Given the description of an element on the screen output the (x, y) to click on. 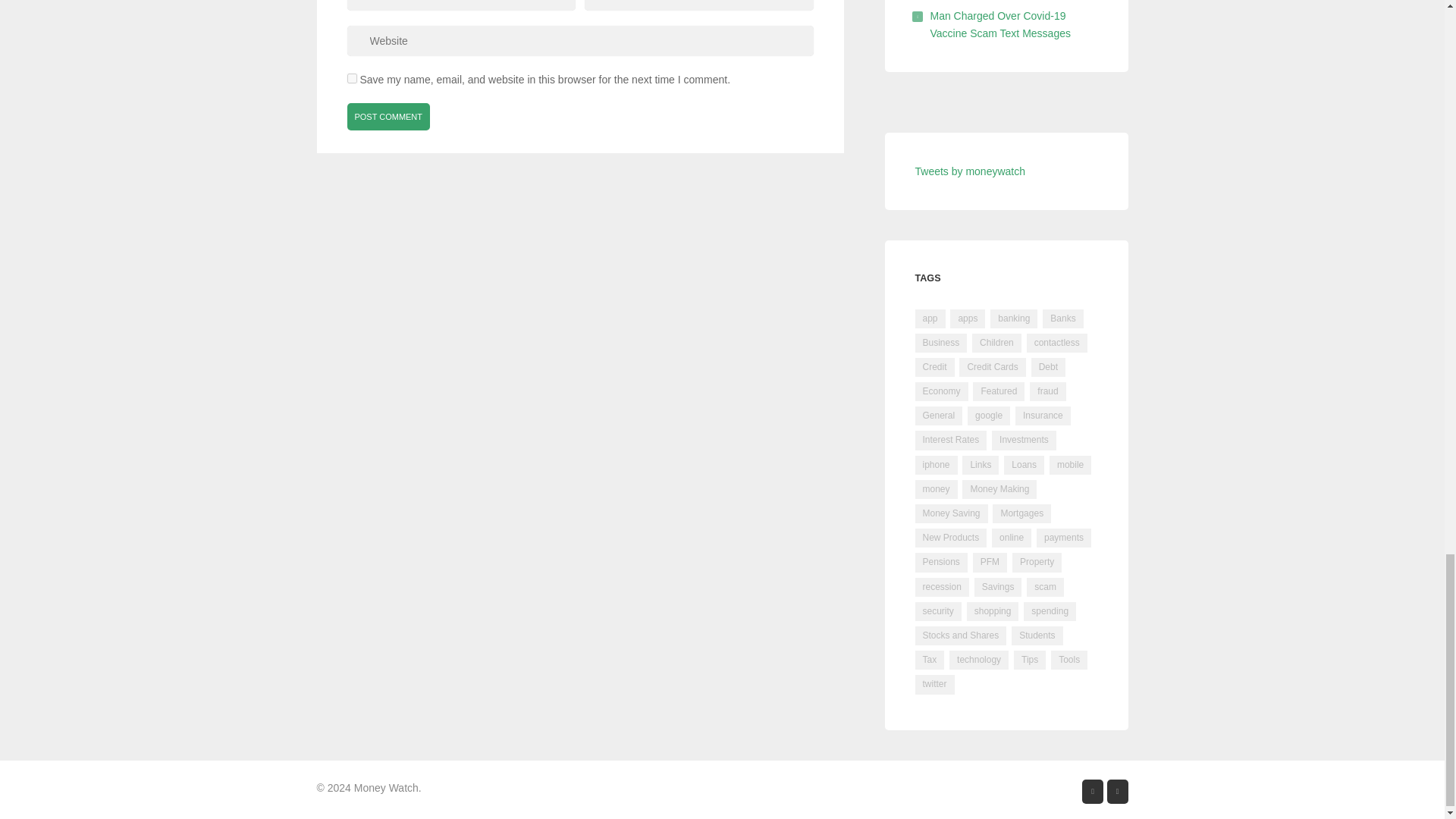
Post Comment (388, 116)
Post Comment (388, 116)
yes (351, 78)
